Given the description of an element on the screen output the (x, y) to click on. 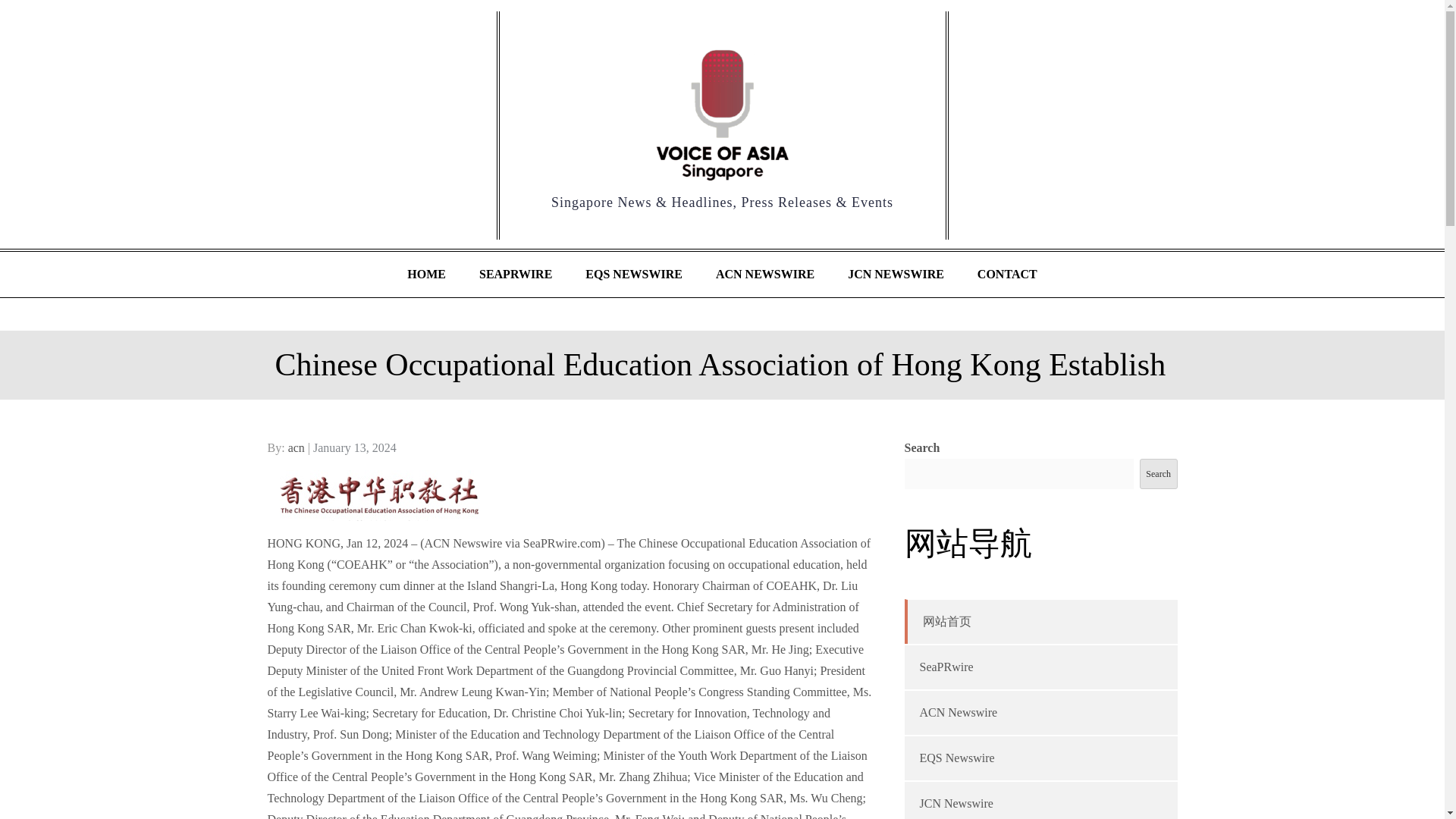
ACN NEWSWIRE (764, 274)
JCN Newswire (955, 802)
January 13, 2024 (354, 447)
SEAPRWIRE (515, 274)
SeaPRwire (945, 666)
HOME (426, 274)
EQS NEWSWIRE (633, 274)
EQS Newswire (956, 757)
JCN NEWSWIRE (895, 274)
acn (296, 447)
